Given the description of an element on the screen output the (x, y) to click on. 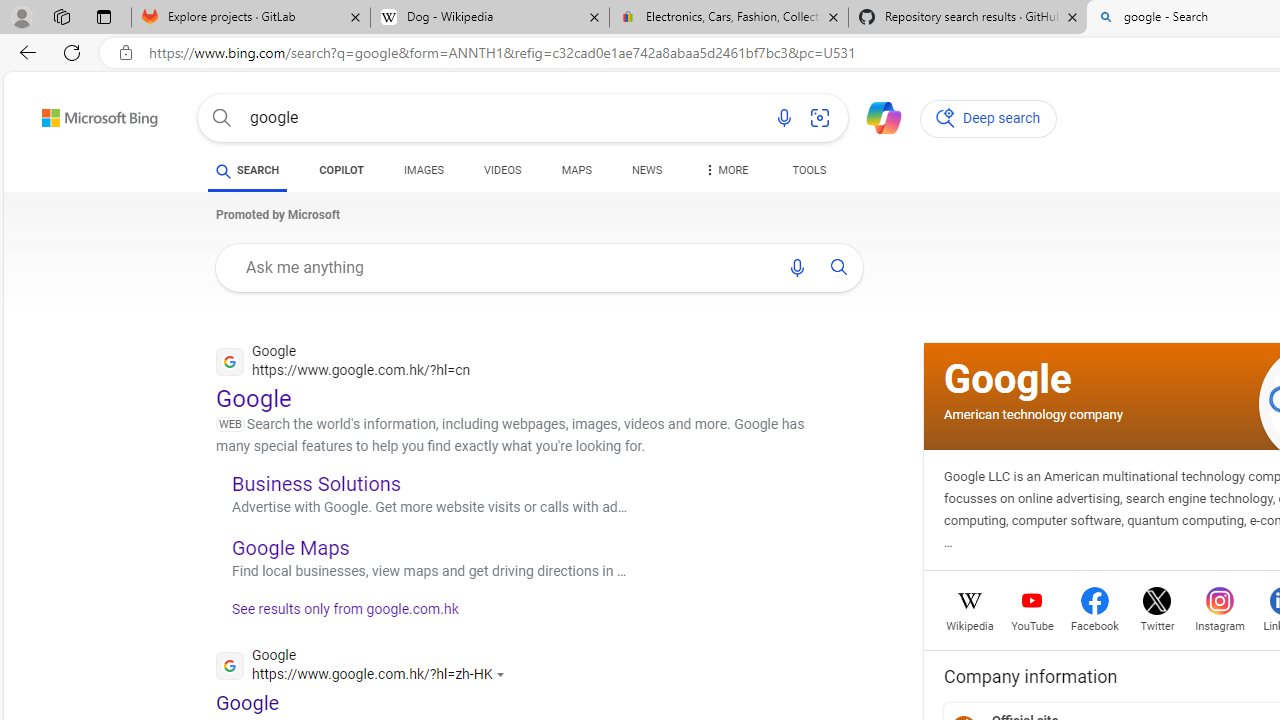
Google (1008, 378)
TOOLS (808, 170)
Wikipedia (969, 624)
AutomationID: uaseabtn (839, 267)
Dog - Wikipedia (490, 17)
Back to Bing search (87, 113)
See results only from google.com.hk (337, 614)
TOOLS (808, 173)
